Given the description of an element on the screen output the (x, y) to click on. 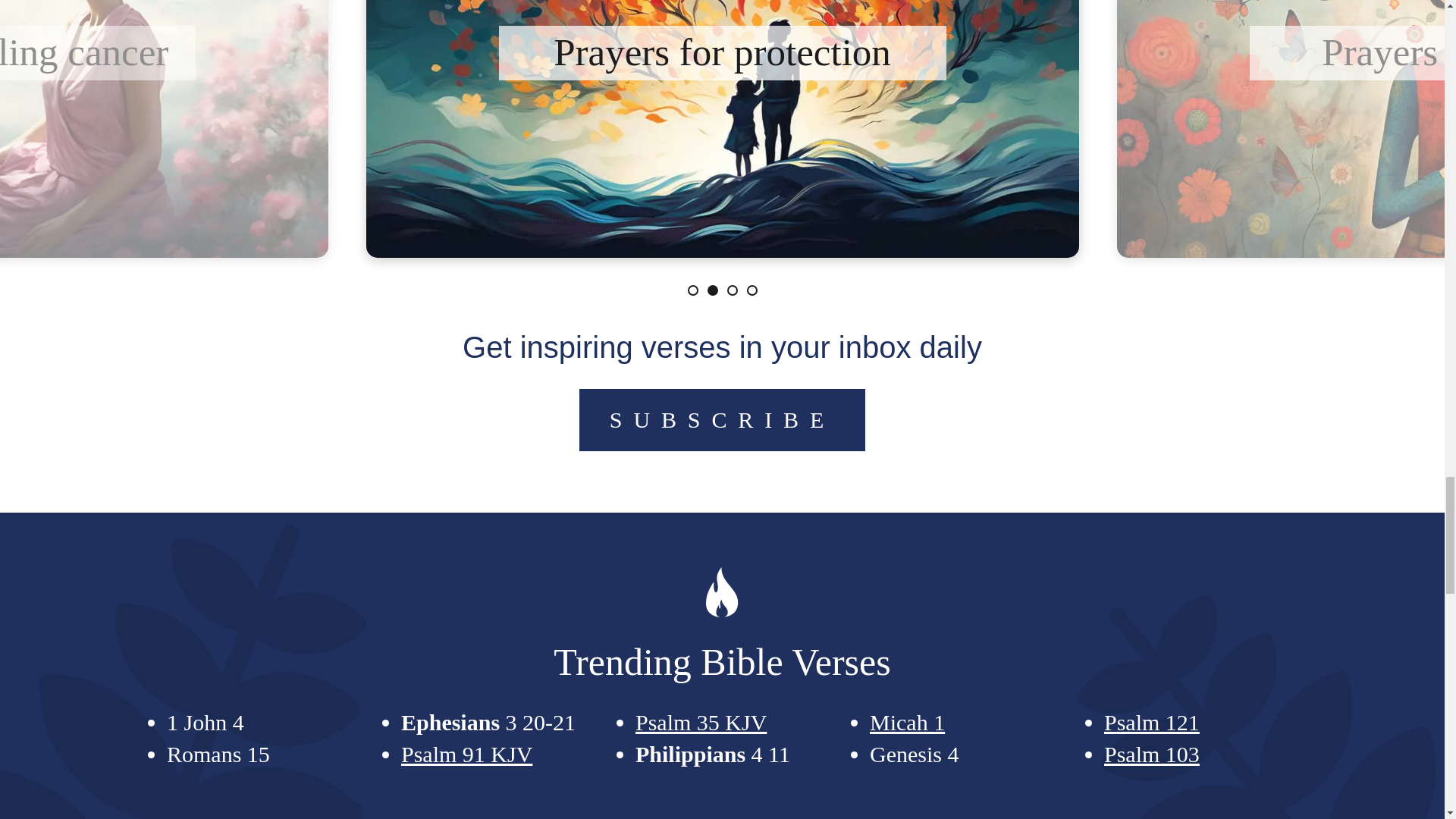
Psalm 121 (1151, 722)
Psalm 91 KJV (466, 754)
SUBSCRIBE (722, 420)
Micah 1 (906, 722)
Psalm 103 (1151, 754)
Prayers for protection (722, 52)
Psalm 35 KJV (700, 722)
